Given the description of an element on the screen output the (x, y) to click on. 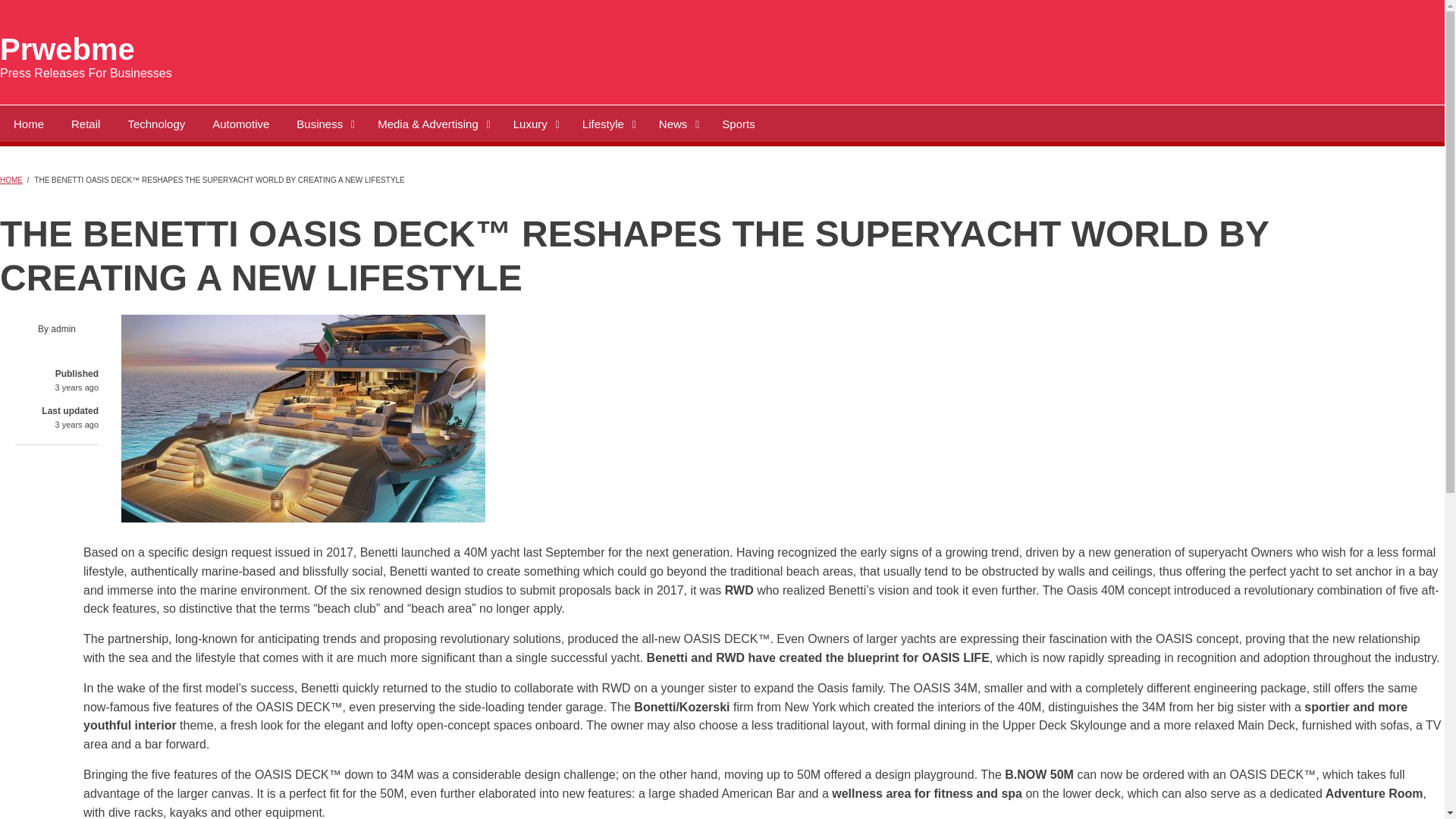
Home (67, 49)
Automotive (240, 123)
Prwebme (67, 49)
Business (323, 123)
Lifestyle (607, 123)
Technology (155, 123)
Home (29, 123)
Retail (85, 123)
HOME (11, 180)
